Given the description of an element on the screen output the (x, y) to click on. 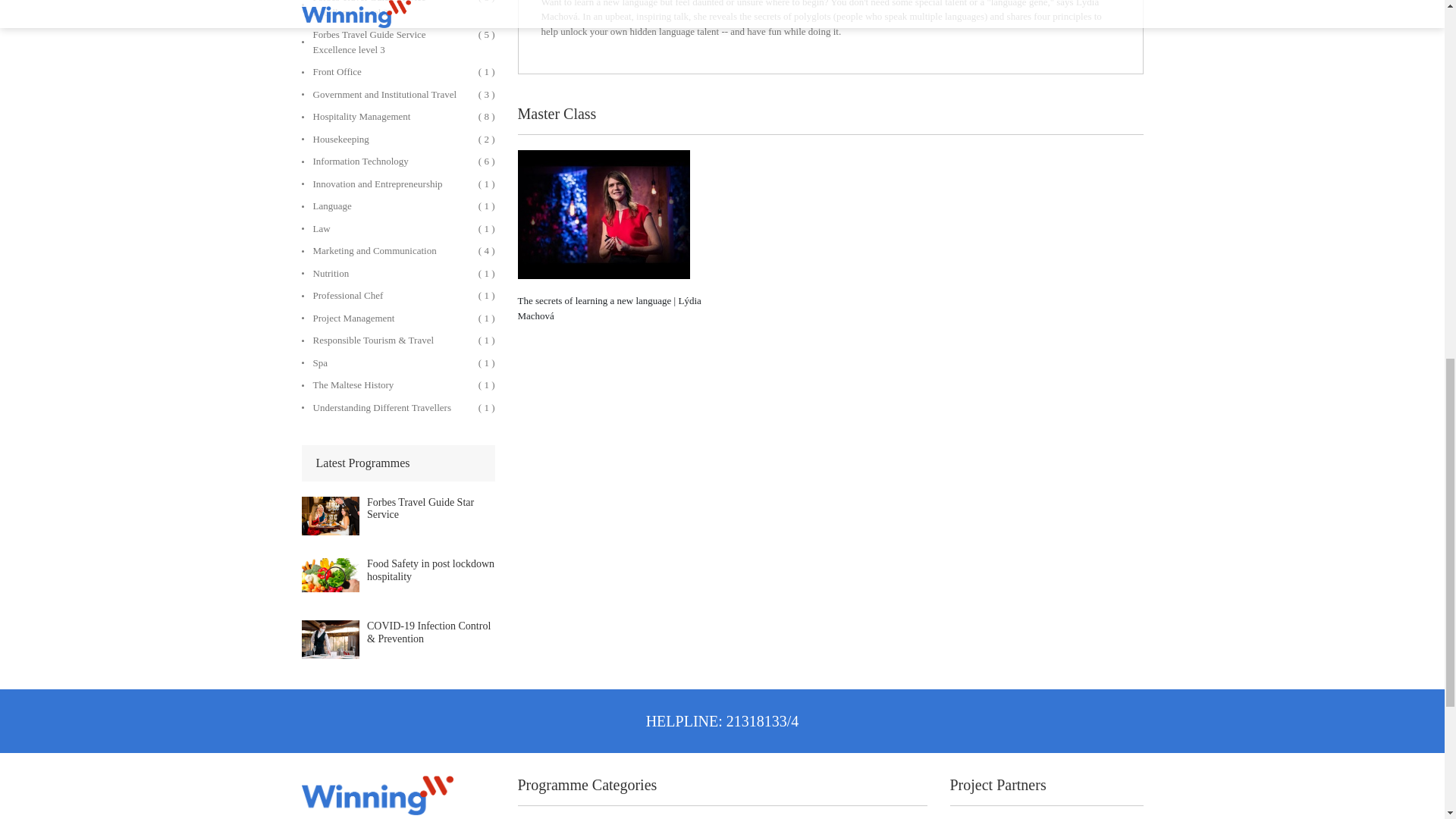
Winning (376, 794)
